Given the description of an element on the screen output the (x, y) to click on. 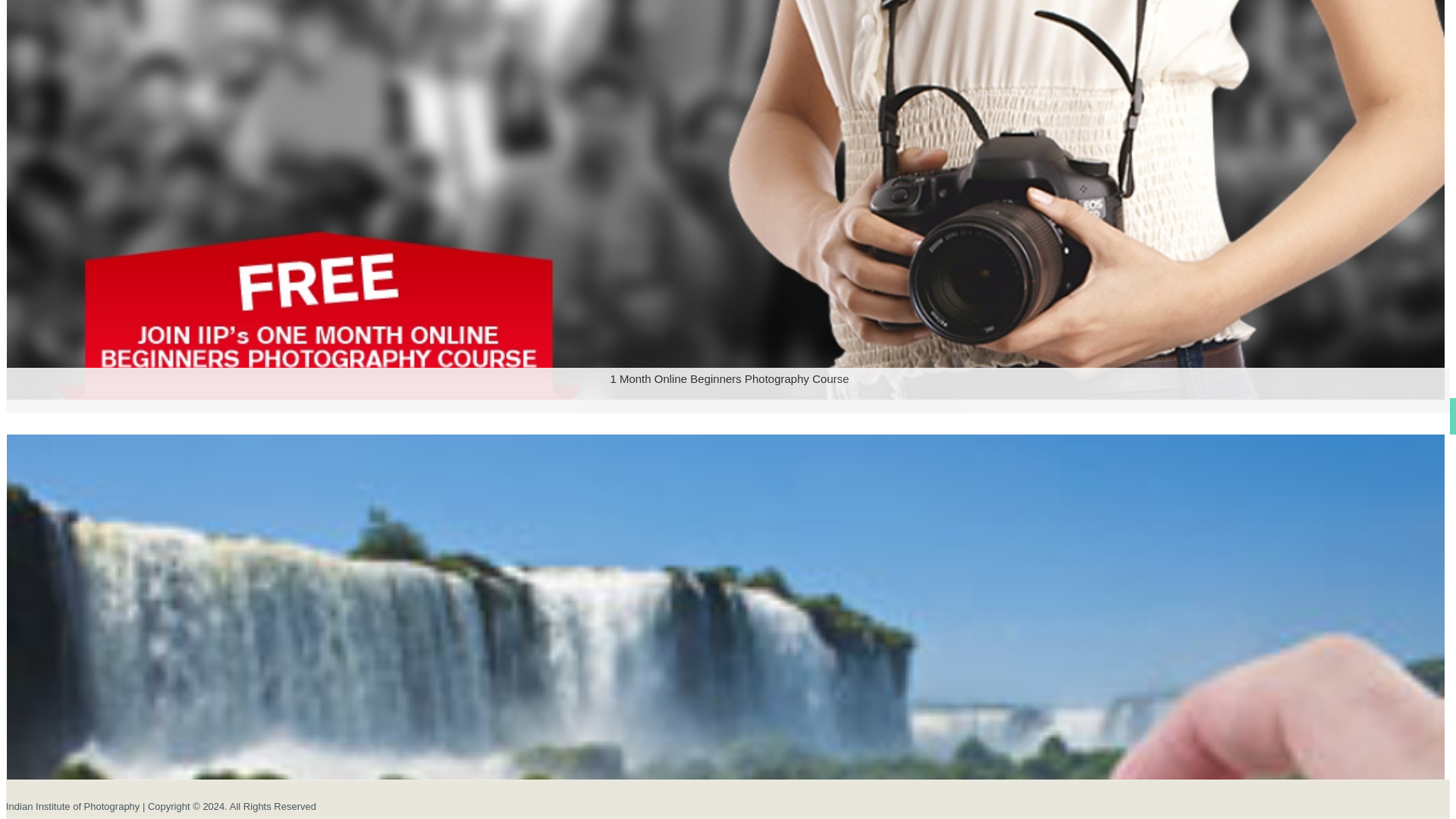
1 Month Online Beginners Photography Course (725, 419)
